Given the description of an element on the screen output the (x, y) to click on. 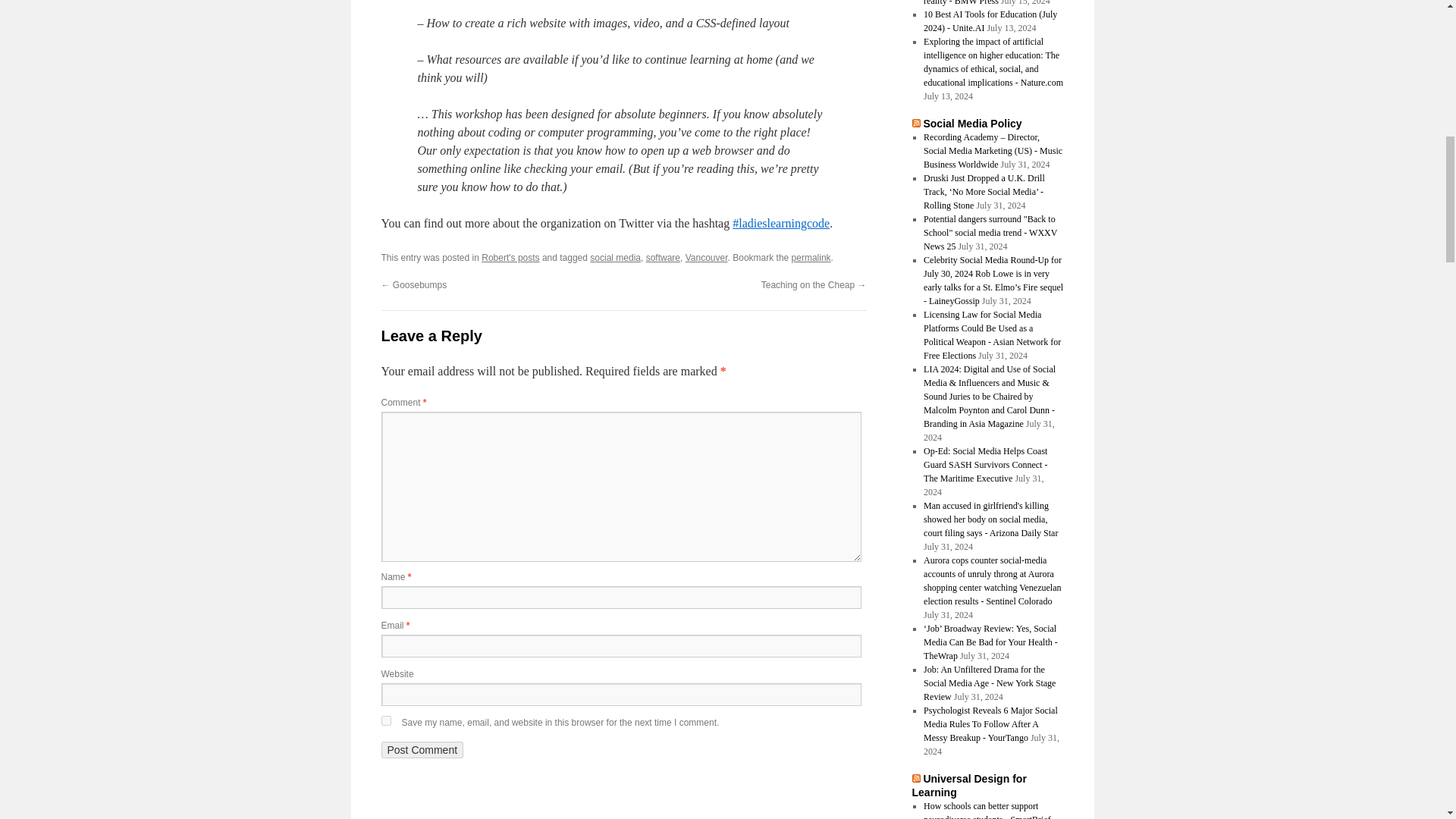
permalink (811, 257)
Robert's posts (509, 257)
software (662, 257)
Ladies Learning Code Twitter feed (780, 223)
Post Comment (421, 750)
social media (614, 257)
Vancouver (706, 257)
yes (385, 720)
Post Comment (421, 750)
